Given the description of an element on the screen output the (x, y) to click on. 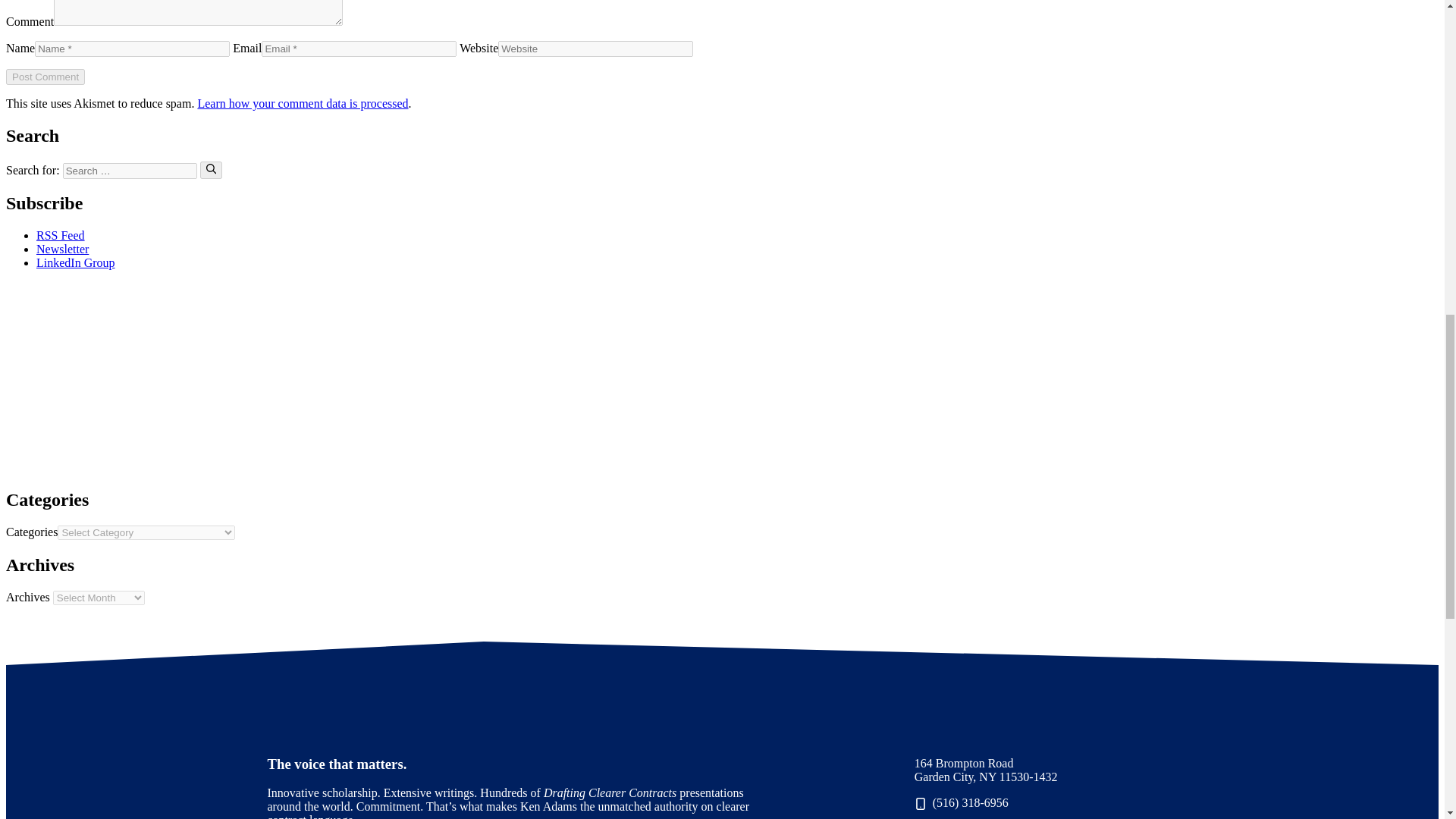
Newsletter (62, 248)
Post Comment (44, 76)
Post Comment (44, 76)
Learn how your comment data is processed (301, 103)
LinkedIn Group (75, 262)
RSS Feed (60, 235)
Search for: (129, 170)
